Given the description of an element on the screen output the (x, y) to click on. 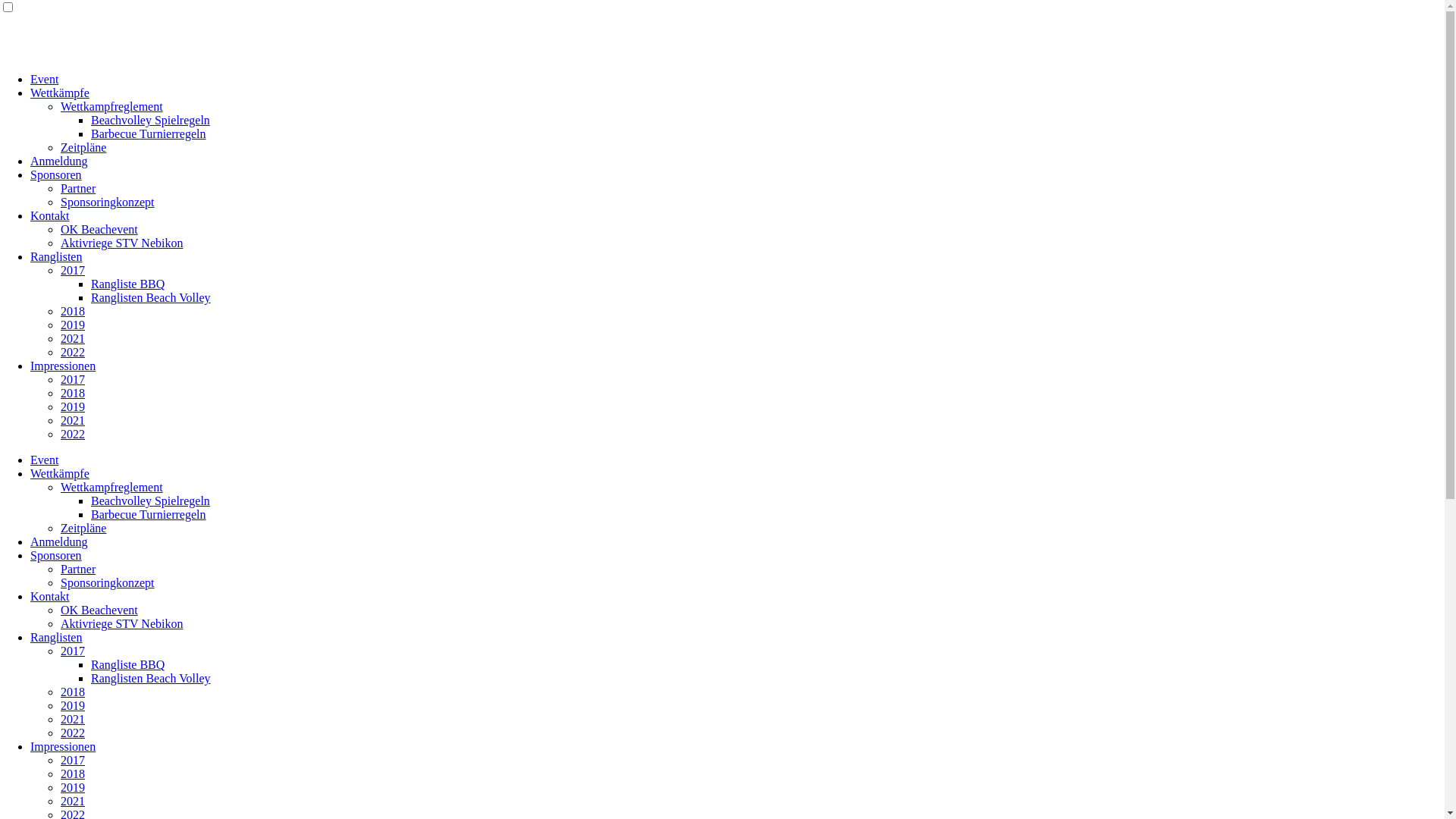
2019 Element type: text (72, 324)
Event Element type: text (44, 459)
2017 Element type: text (72, 379)
2022 Element type: text (72, 433)
2021 Element type: text (72, 338)
Sponsoringkonzept Element type: text (107, 582)
Beachvolley Spielregeln Element type: text (150, 500)
Anmeldung Element type: text (58, 160)
2017 Element type: text (72, 759)
Kontakt Element type: text (49, 215)
2022 Element type: text (72, 351)
Sponsoren Element type: text (55, 174)
2022 Element type: text (72, 732)
Sponsoren Element type: text (55, 555)
2021 Element type: text (72, 718)
Wettkampfreglement Element type: text (111, 106)
Barbecue Turnierregeln Element type: text (148, 514)
2017 Element type: text (72, 650)
Ranglisten Beach Volley Element type: text (150, 297)
Partner Element type: text (77, 568)
Partner Element type: text (77, 188)
OK Beachevent Element type: text (99, 228)
2018 Element type: text (72, 773)
OK Beachevent Element type: text (99, 609)
Sponsoringkonzept Element type: text (107, 201)
2018 Element type: text (72, 310)
2018 Element type: text (72, 691)
Aktivriege STV Nebikon Element type: text (121, 242)
2019 Element type: text (72, 406)
2021 Element type: text (72, 800)
Ranglisten Element type: text (55, 636)
2019 Element type: text (72, 705)
Event Element type: text (44, 78)
Ranglisten Element type: text (55, 256)
Rangliste BBQ Element type: text (127, 664)
2018 Element type: text (72, 392)
Impressionen Element type: text (62, 746)
2021 Element type: text (72, 420)
Barbecue Turnierregeln Element type: text (148, 133)
2017 Element type: text (72, 269)
Beachvolley Spielregeln Element type: text (150, 119)
Impressionen Element type: text (62, 365)
Ranglisten Beach Volley Element type: text (150, 677)
Anmeldung Element type: text (58, 541)
2019 Element type: text (72, 787)
Aktivriege STV Nebikon Element type: text (121, 623)
Rangliste BBQ Element type: text (127, 283)
Wettkampfreglement Element type: text (111, 486)
Kontakt Element type: text (49, 595)
